Given the description of an element on the screen output the (x, y) to click on. 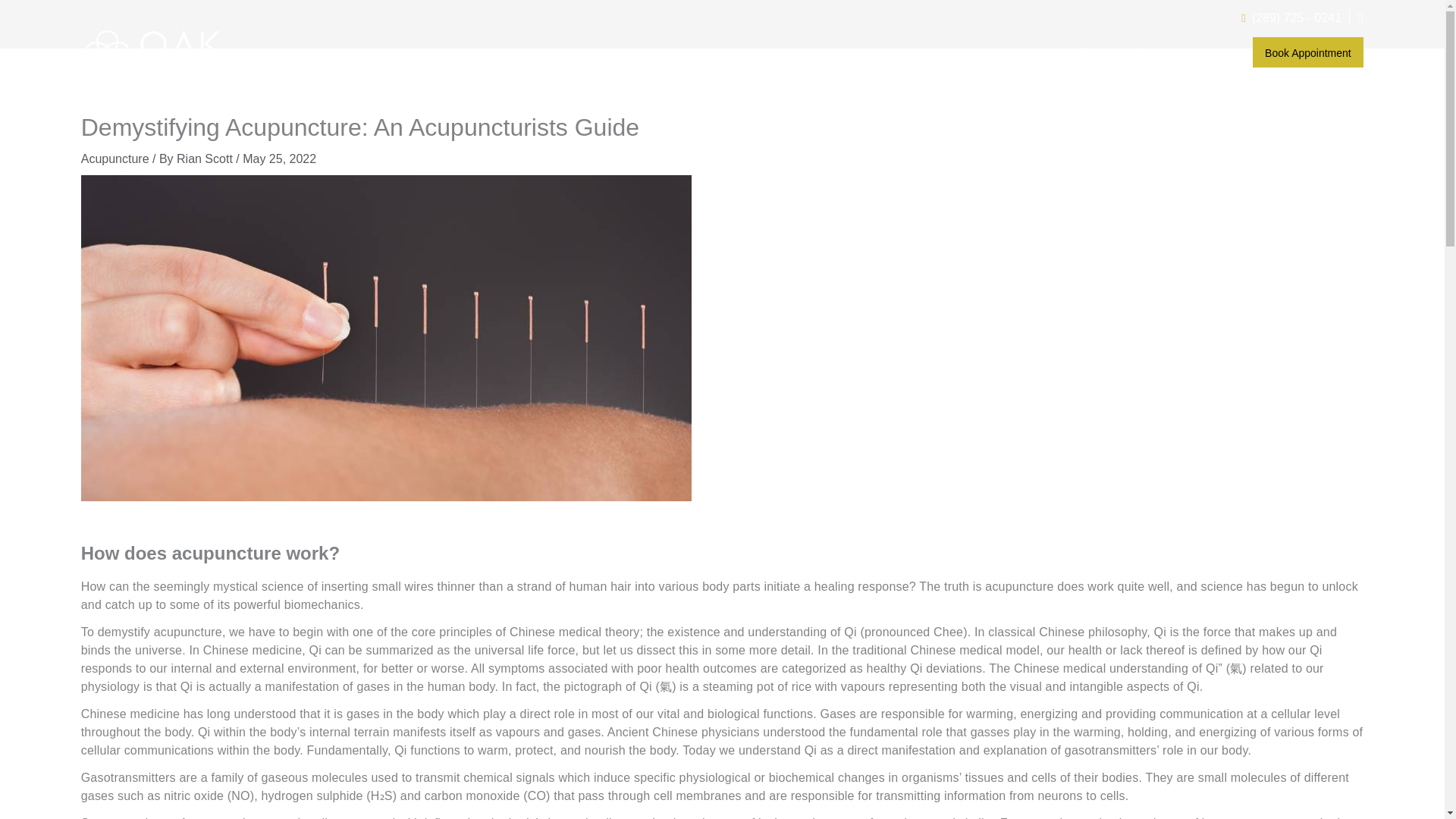
Home (856, 51)
Services (1013, 51)
About (907, 51)
View all posts by Rian Scott (205, 158)
Team (955, 51)
